Given the description of an element on the screen output the (x, y) to click on. 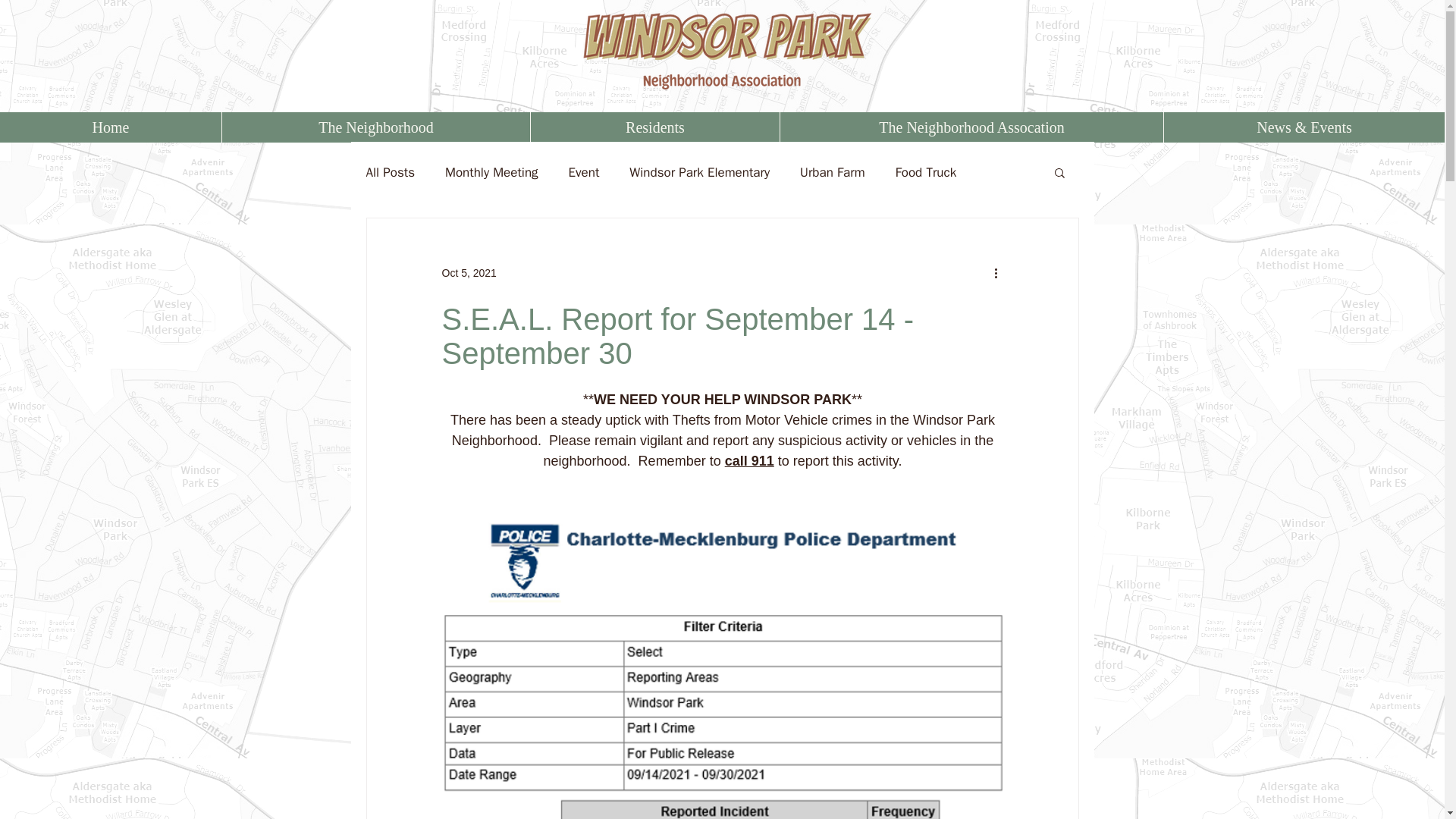
Monthly Meeting (491, 171)
Home (110, 127)
All Posts (389, 171)
The Neighborhood Assocation (970, 127)
Urban Farm (831, 171)
Windsor Park Elementary (699, 171)
Food Truck (925, 171)
Event (584, 171)
Oct 5, 2021 (468, 272)
